Given the description of an element on the screen output the (x, y) to click on. 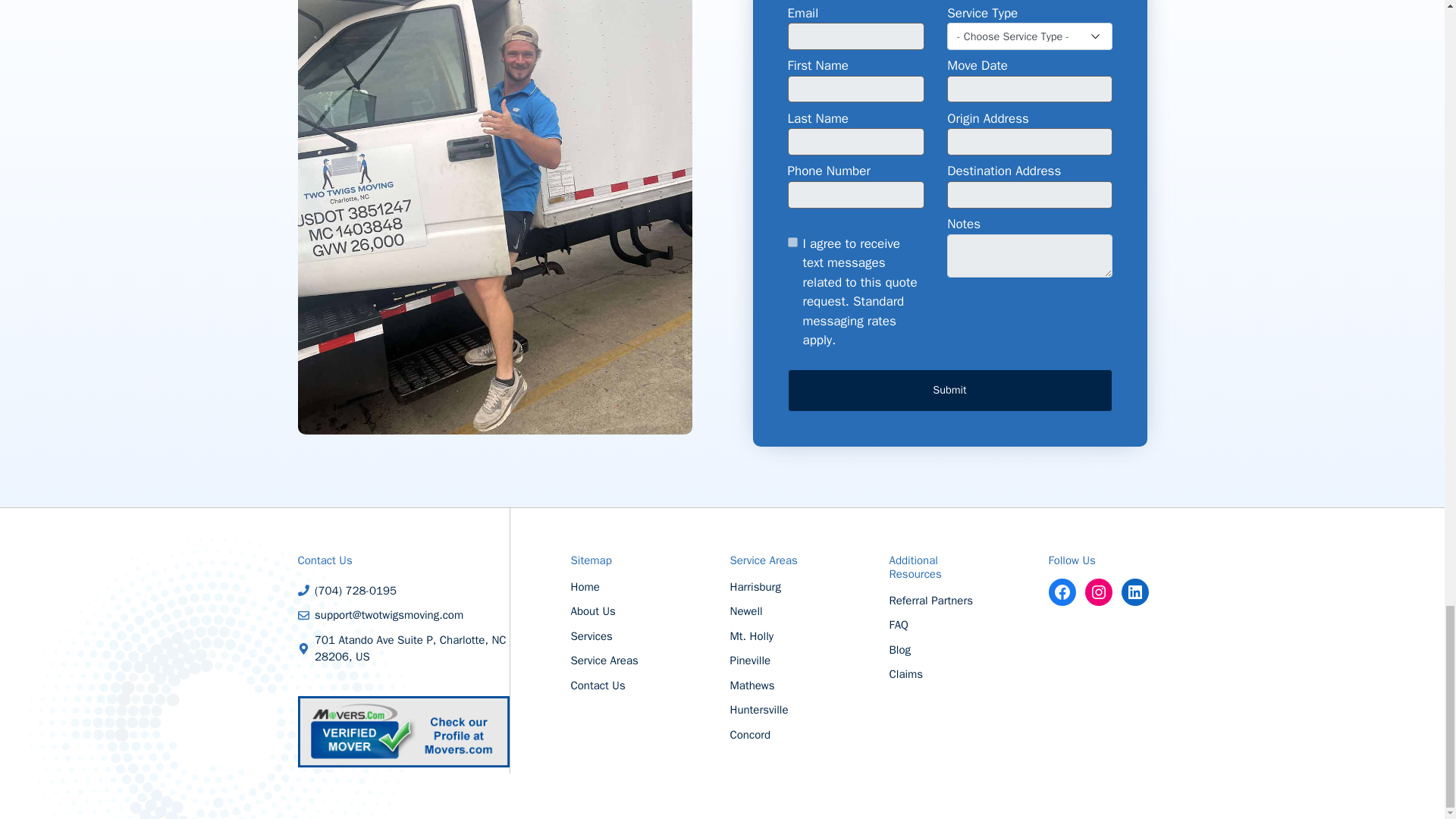
true (791, 242)
